Given the description of an element on the screen output the (x, y) to click on. 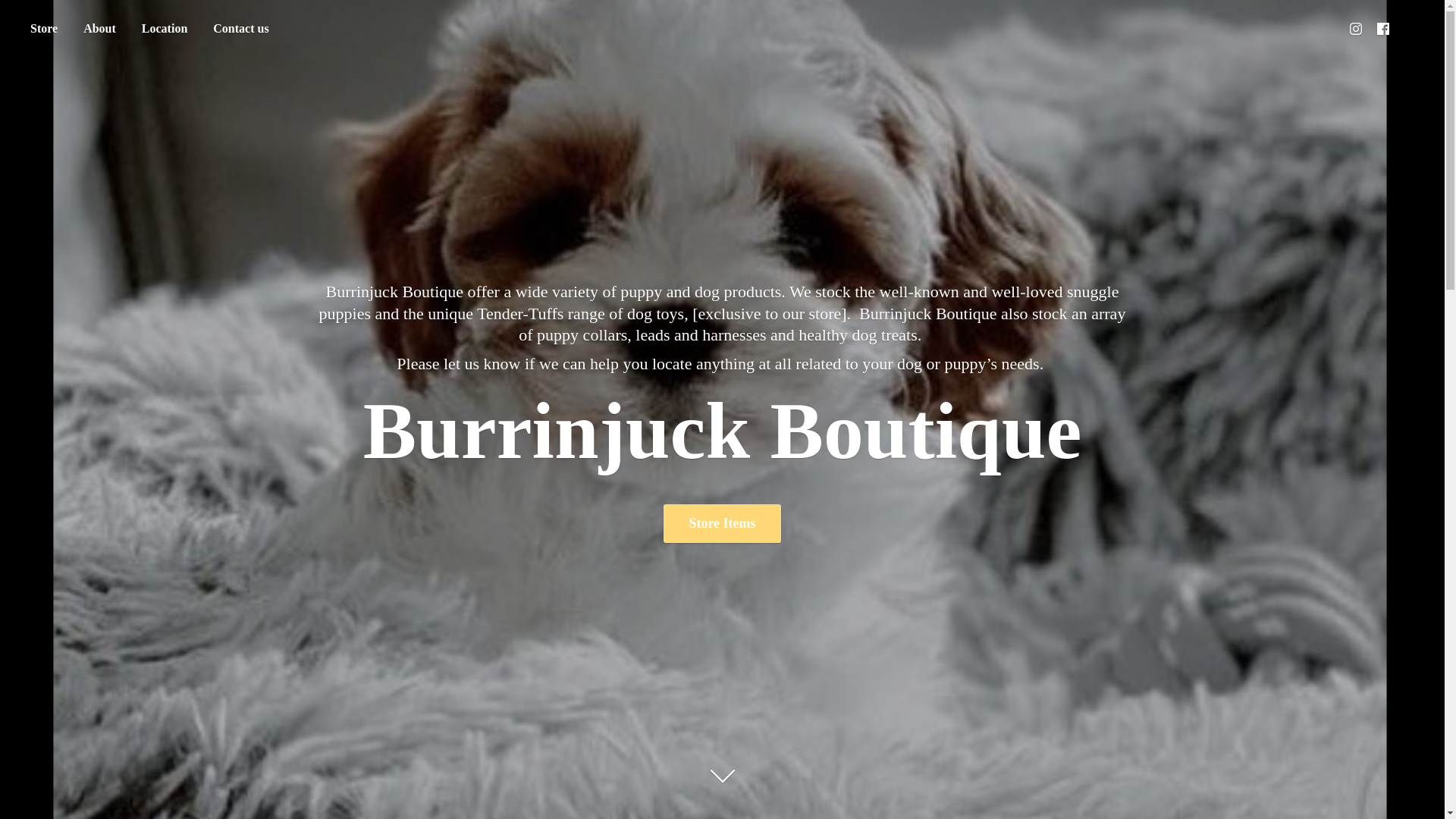
Store (43, 29)
Store Items (721, 523)
Location (164, 29)
Contact us (240, 29)
About (99, 29)
